Given the description of an element on the screen output the (x, y) to click on. 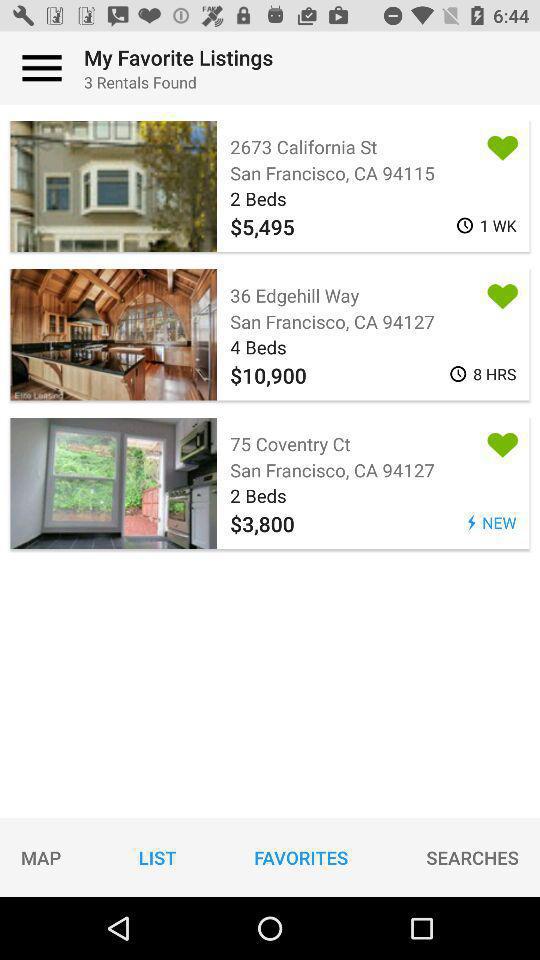
tap item to the left of the my favorite listings item (41, 68)
